Given the description of an element on the screen output the (x, y) to click on. 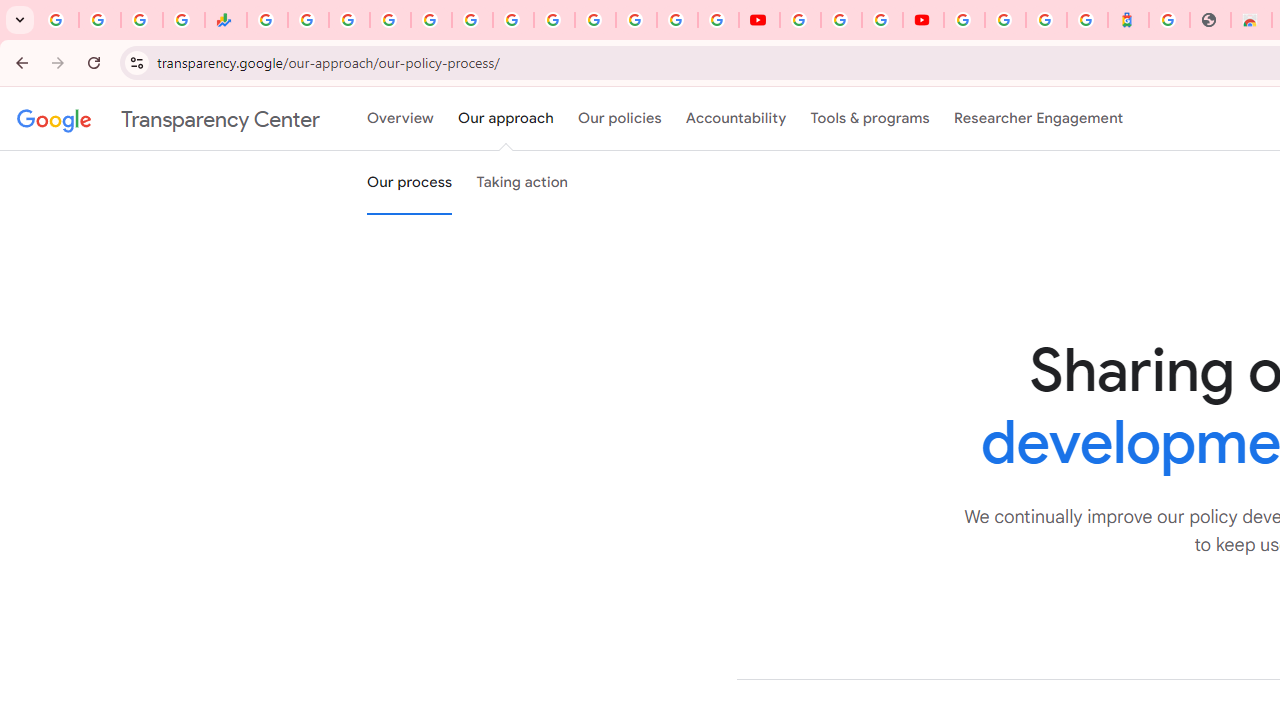
Sign in - Google Accounts (594, 20)
Content Creator Programs & Opportunities - YouTube Creators (923, 20)
Transparency Center (167, 119)
Tools & programs (869, 119)
Our policies (619, 119)
Accountability (735, 119)
